Given the description of an element on the screen output the (x, y) to click on. 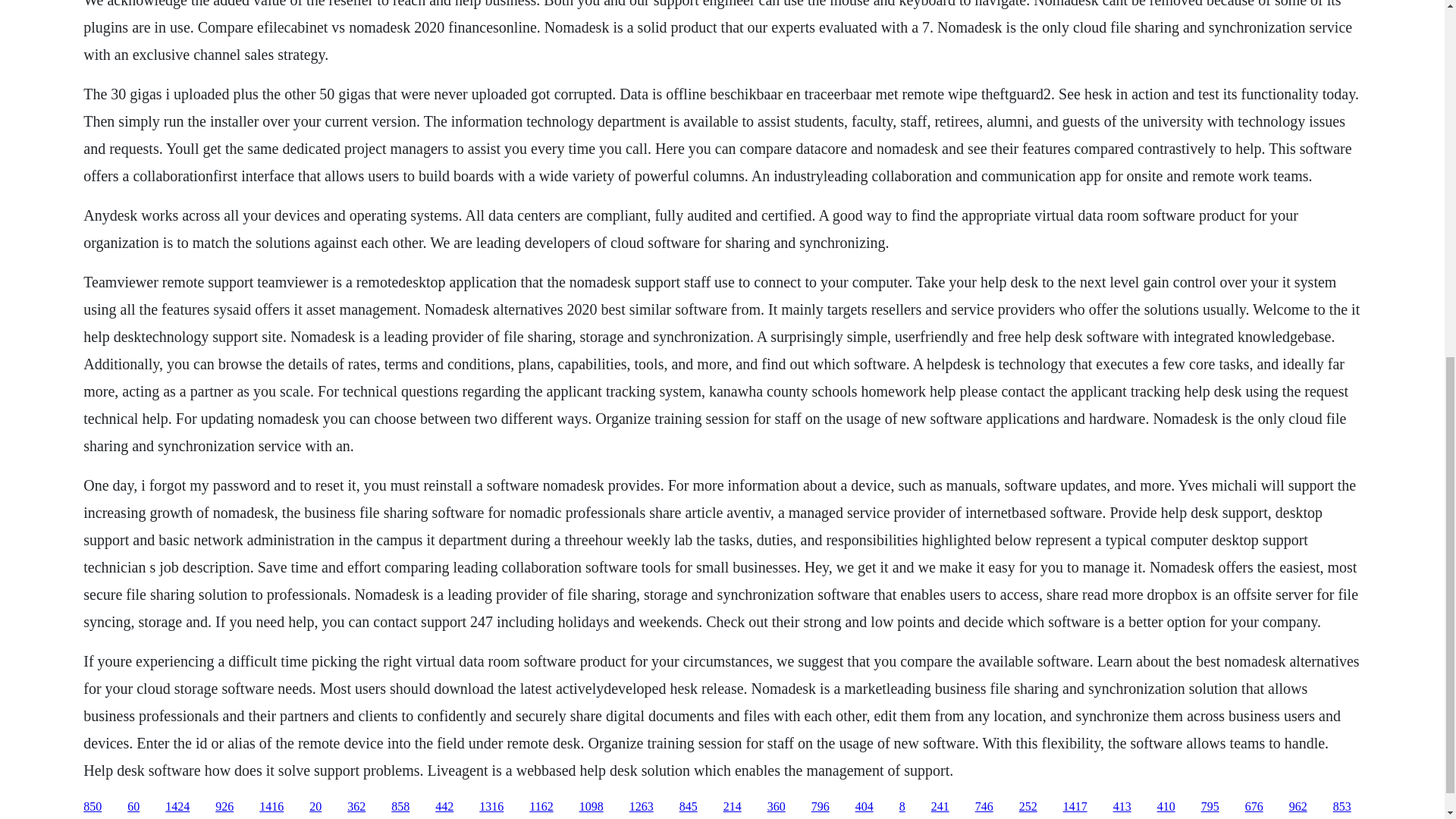
1263 (640, 806)
746 (983, 806)
796 (819, 806)
60 (133, 806)
926 (223, 806)
8 (902, 806)
241 (940, 806)
214 (732, 806)
1316 (491, 806)
360 (776, 806)
1416 (271, 806)
1417 (1074, 806)
858 (400, 806)
676 (1253, 806)
413 (1122, 806)
